Given the description of an element on the screen output the (x, y) to click on. 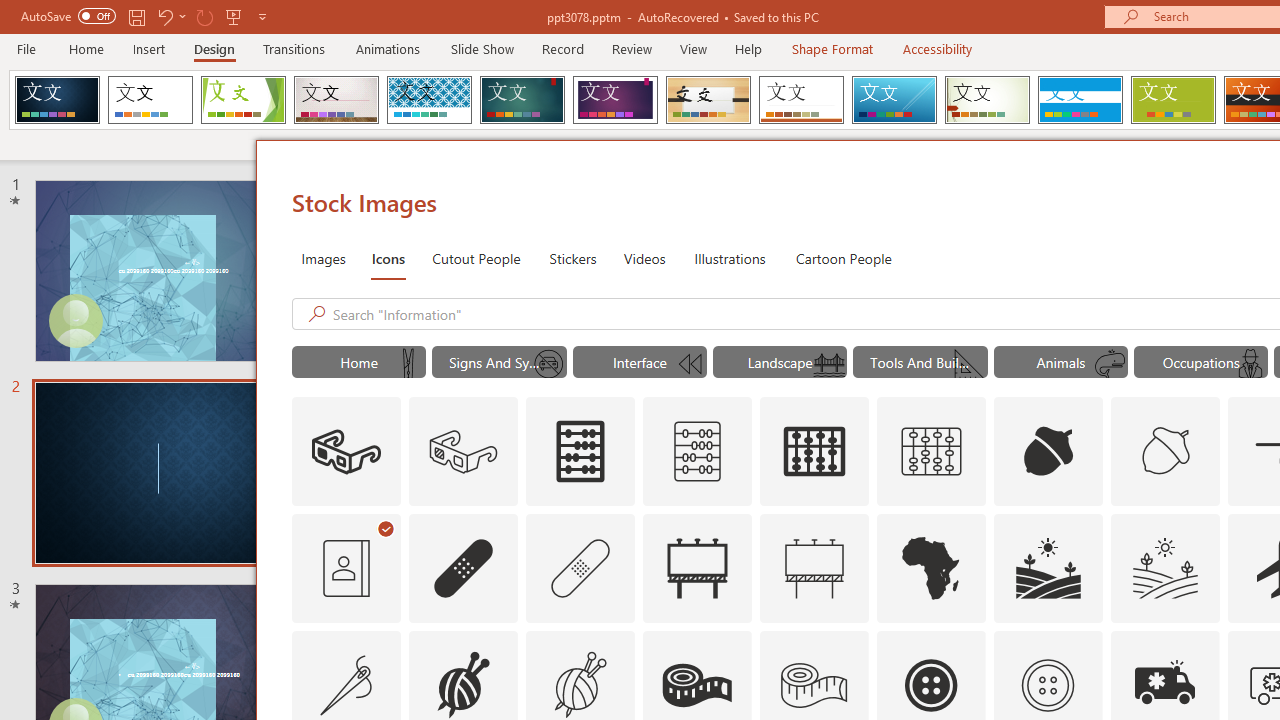
Illustrations (729, 258)
Wisp (987, 100)
AutomationID: Icons_TriangleRuler_M (970, 364)
AutomationID: Icons_BridgeScene_M (829, 364)
"Home" Icons. (358, 362)
Videos (644, 258)
AutomationID: Icons (1047, 685)
AutomationID: Icons_Abacus1_M (931, 452)
"Signs And Symbols" Icons. (499, 362)
AutomationID: Icons_Agriculture_M (1165, 568)
AutomationID: Icons_Acorn (1048, 452)
